Given the description of an element on the screen output the (x, y) to click on. 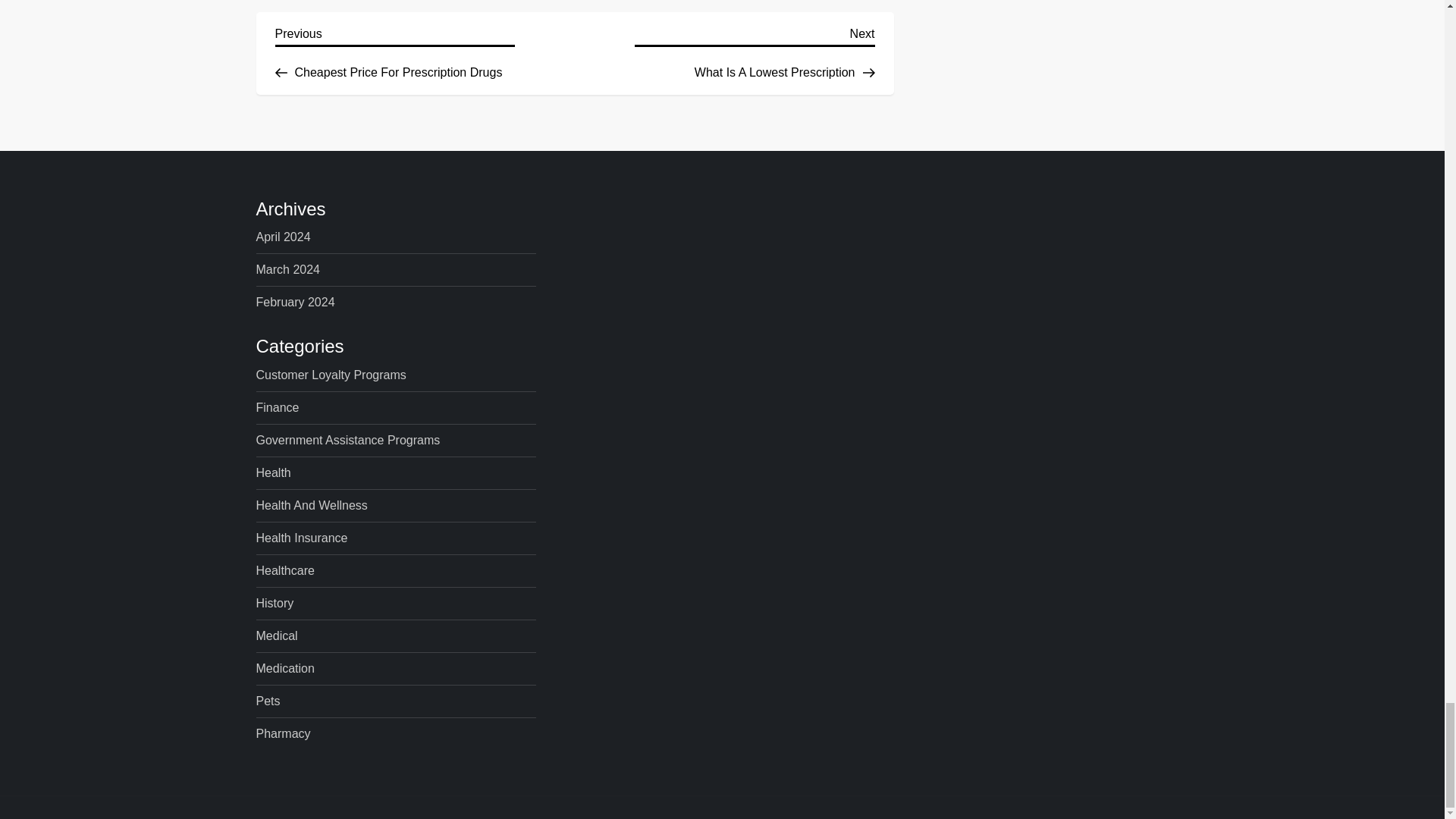
April 2024 (394, 50)
March 2024 (283, 237)
